Given the description of an element on the screen output the (x, y) to click on. 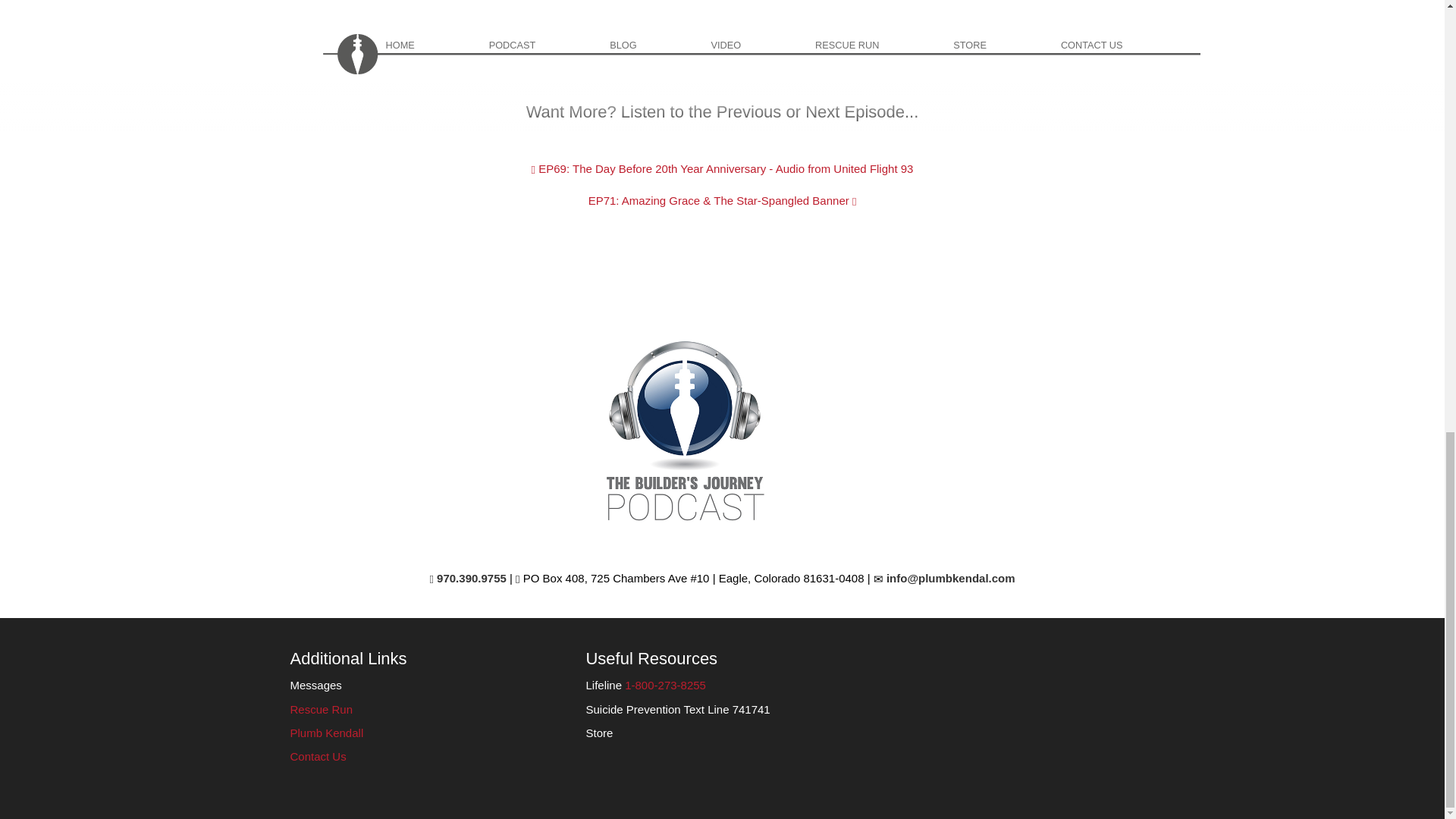
970.390.9755 (467, 577)
Contact Us (317, 756)
1-800-273-8255 (665, 684)
Plumb Kendall (325, 732)
Rescue Run (320, 708)
www.Poddecks.com (340, 21)
